Given the description of an element on the screen output the (x, y) to click on. 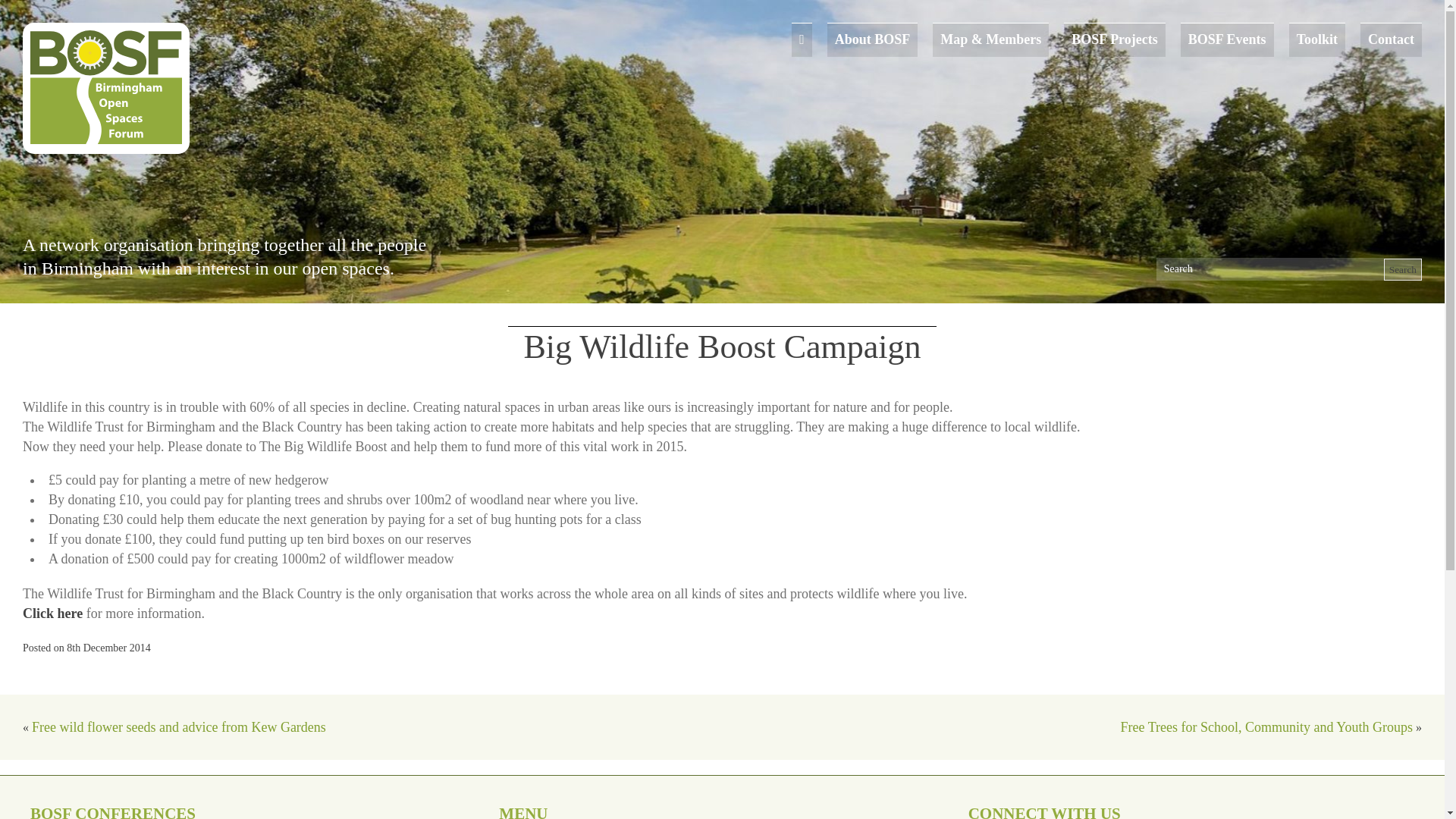
BOSF Projects (1114, 38)
About BOSF (872, 38)
Search (1403, 269)
Free wild flower seeds and advice from Kew Gardens (179, 726)
Search (1403, 269)
Contact (1390, 38)
Toolkit (1317, 38)
Free Trees for School, Community and Youth Groups (1265, 726)
Click here (52, 613)
Big Wildlife Boost (52, 613)
BOSF Events (1227, 38)
